Given the description of an element on the screen output the (x, y) to click on. 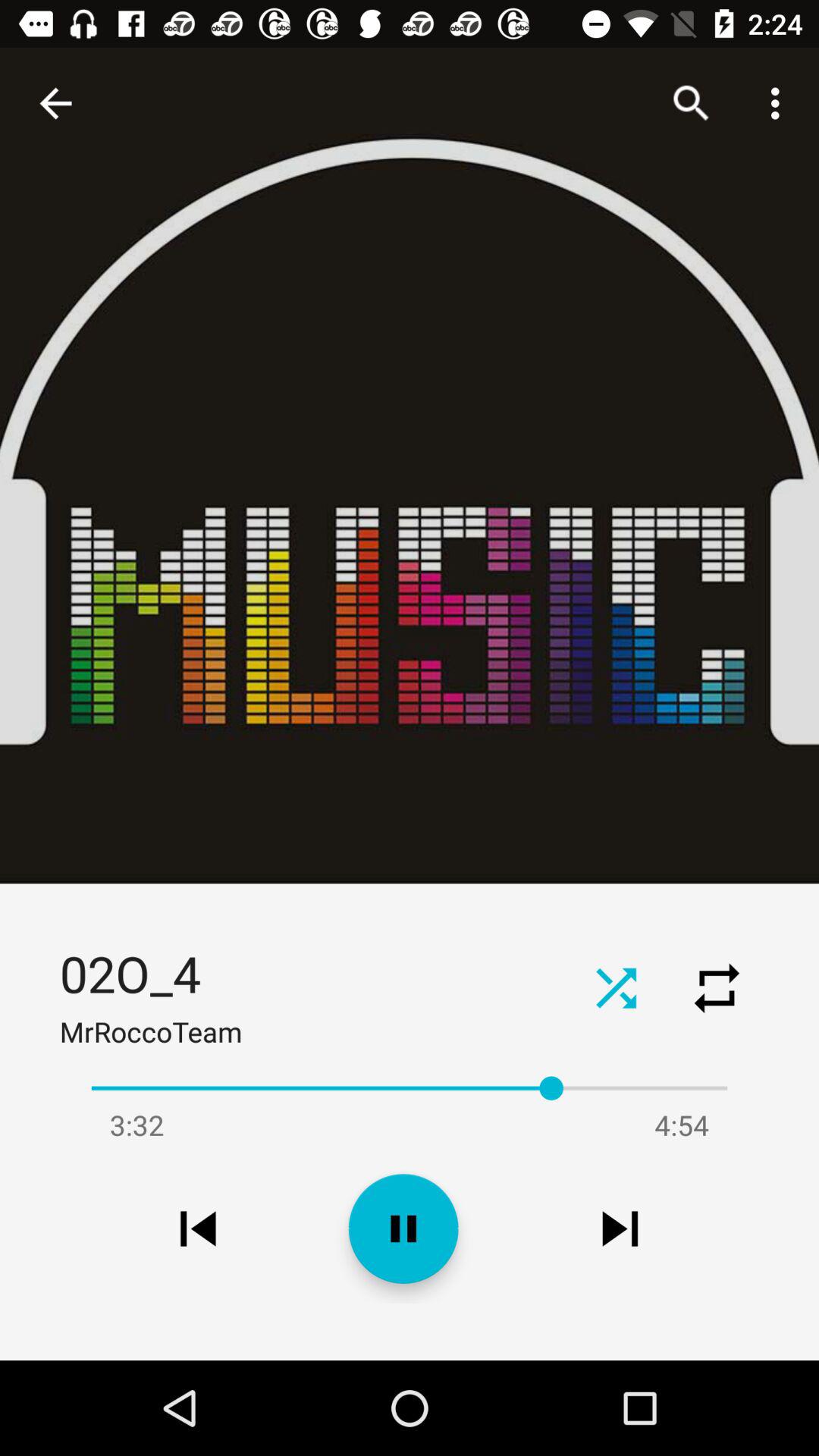
turn off the icon next to mrroccoteam item (615, 987)
